Given the description of an element on the screen output the (x, y) to click on. 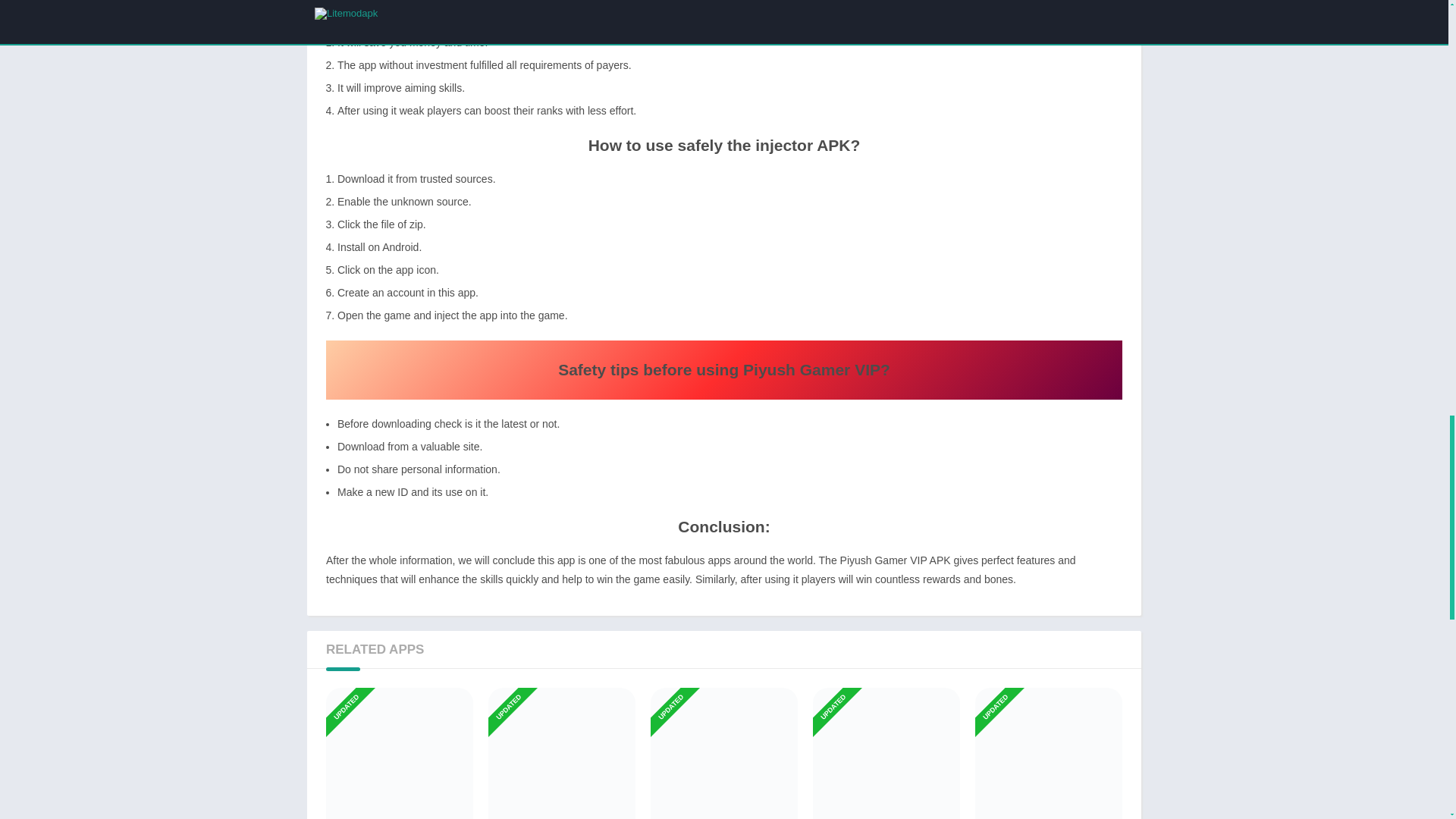
ZHX Team Mod APK (399, 753)
